Given the description of an element on the screen output the (x, y) to click on. 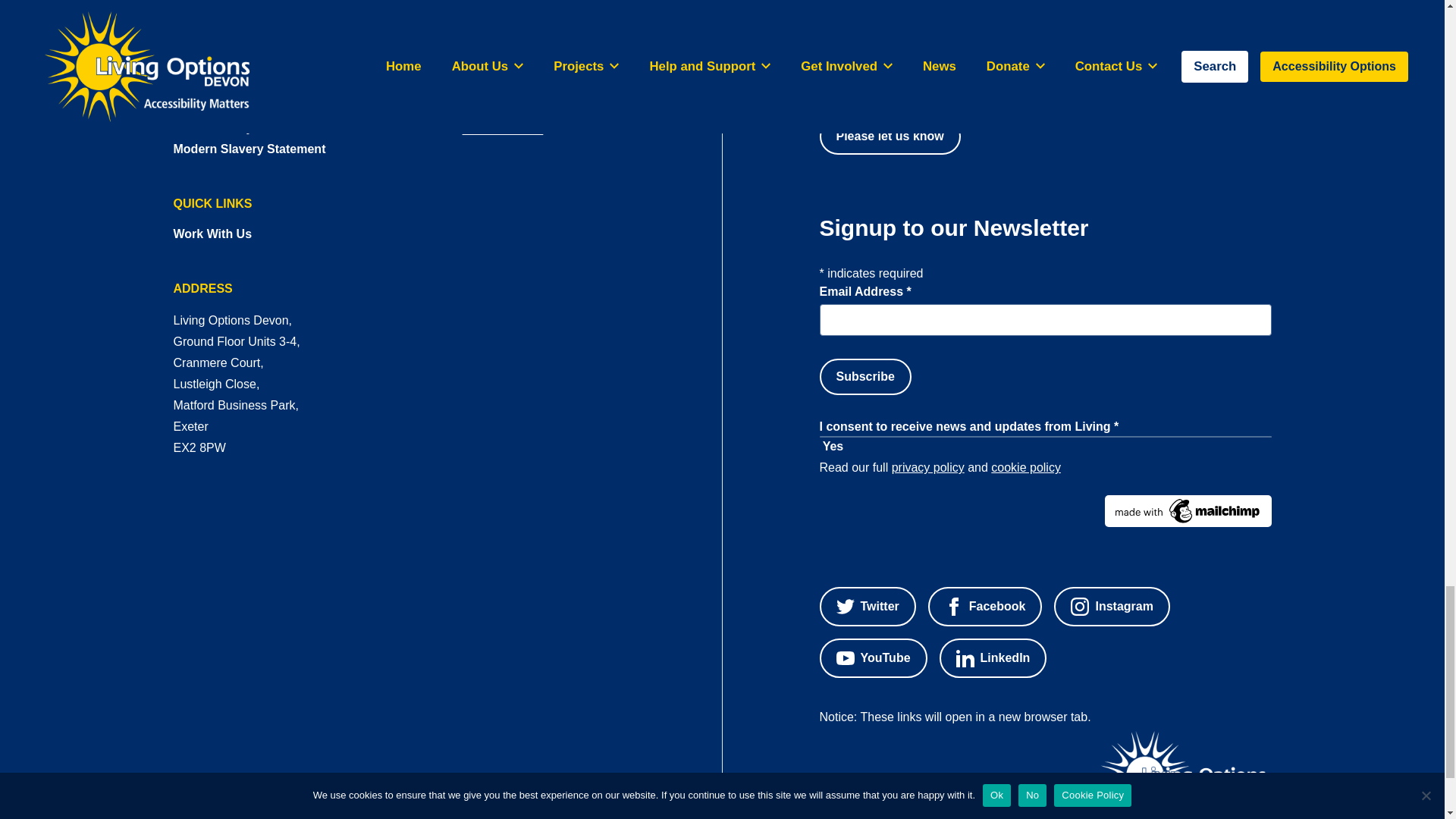
Mailchimp - email marketing made easy and fun (1044, 511)
Subscribe (864, 376)
